Given the description of an element on the screen output the (x, y) to click on. 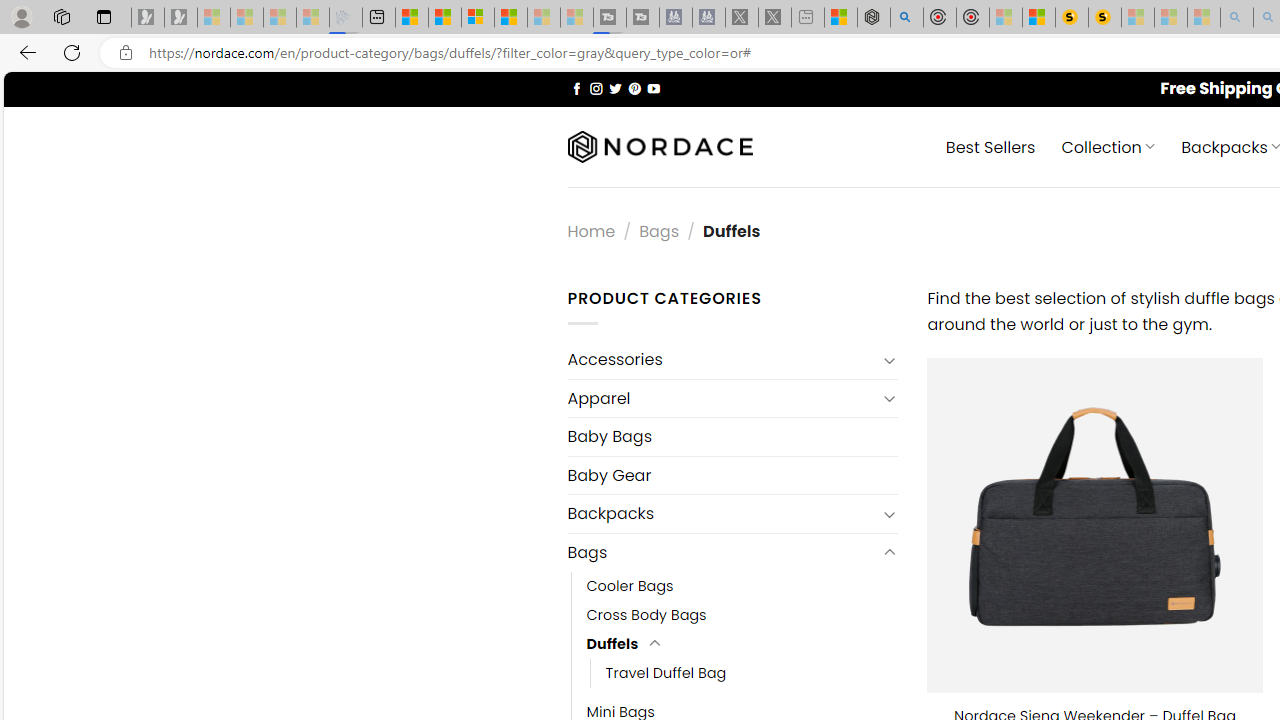
Duffels (612, 643)
Newsletter Sign Up - Sleeping (181, 17)
Cross Body Bags (742, 614)
Bags (721, 552)
Baby Gear (732, 475)
Baby Bags (732, 436)
